Given the description of an element on the screen output the (x, y) to click on. 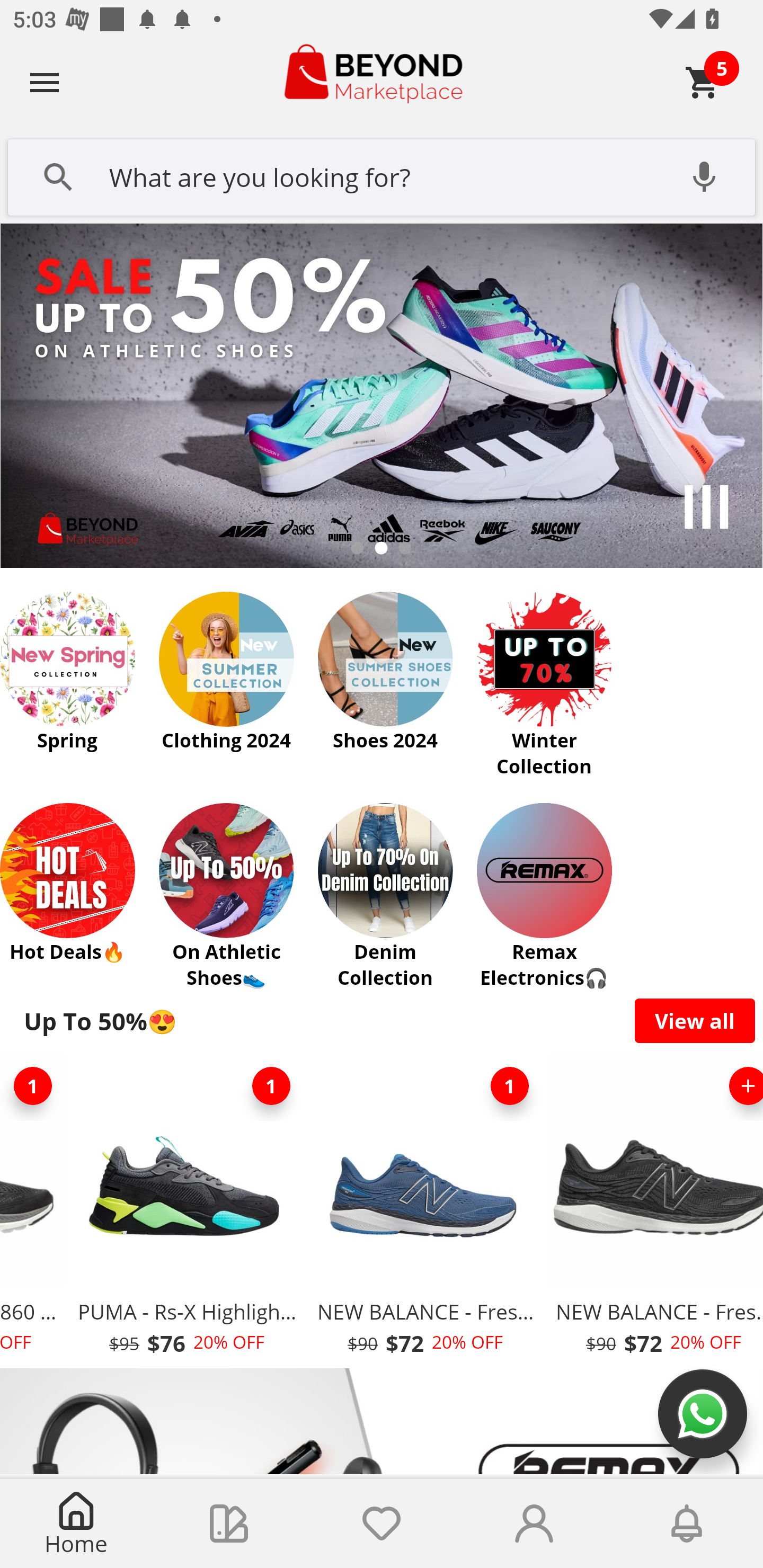
Navigate up (44, 82)
What are you looking for? (381, 175)
View all (694, 1020)
1 (270, 1085)
1 (509, 1085)
Collections (228, 1523)
Wishlist (381, 1523)
Account (533, 1523)
Notifications (686, 1523)
